Given the description of an element on the screen output the (x, y) to click on. 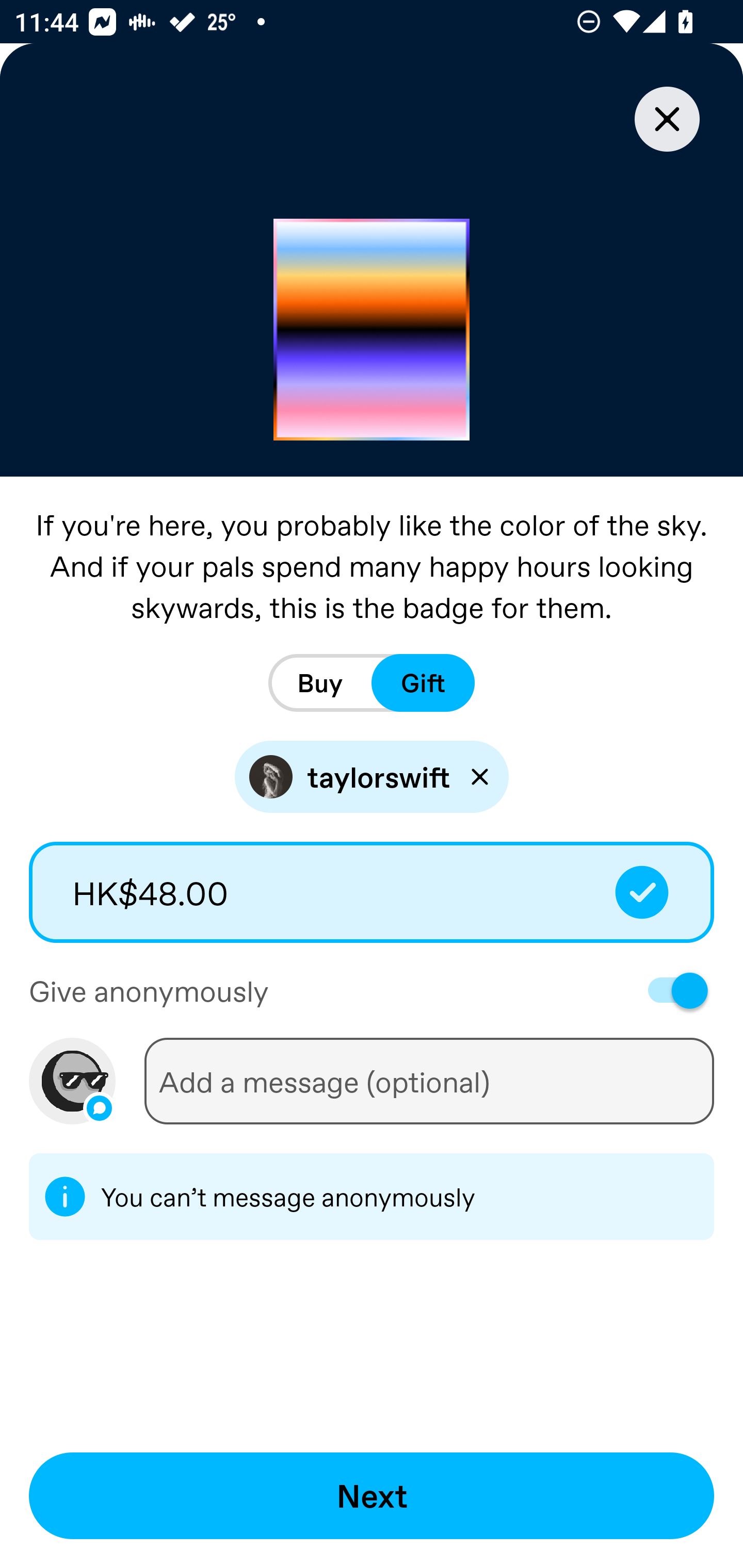
Buy (319, 682)
Gift (423, 682)
Add a message (optional) (429, 1081)
Next (371, 1495)
